Given the description of an element on the screen output the (x, y) to click on. 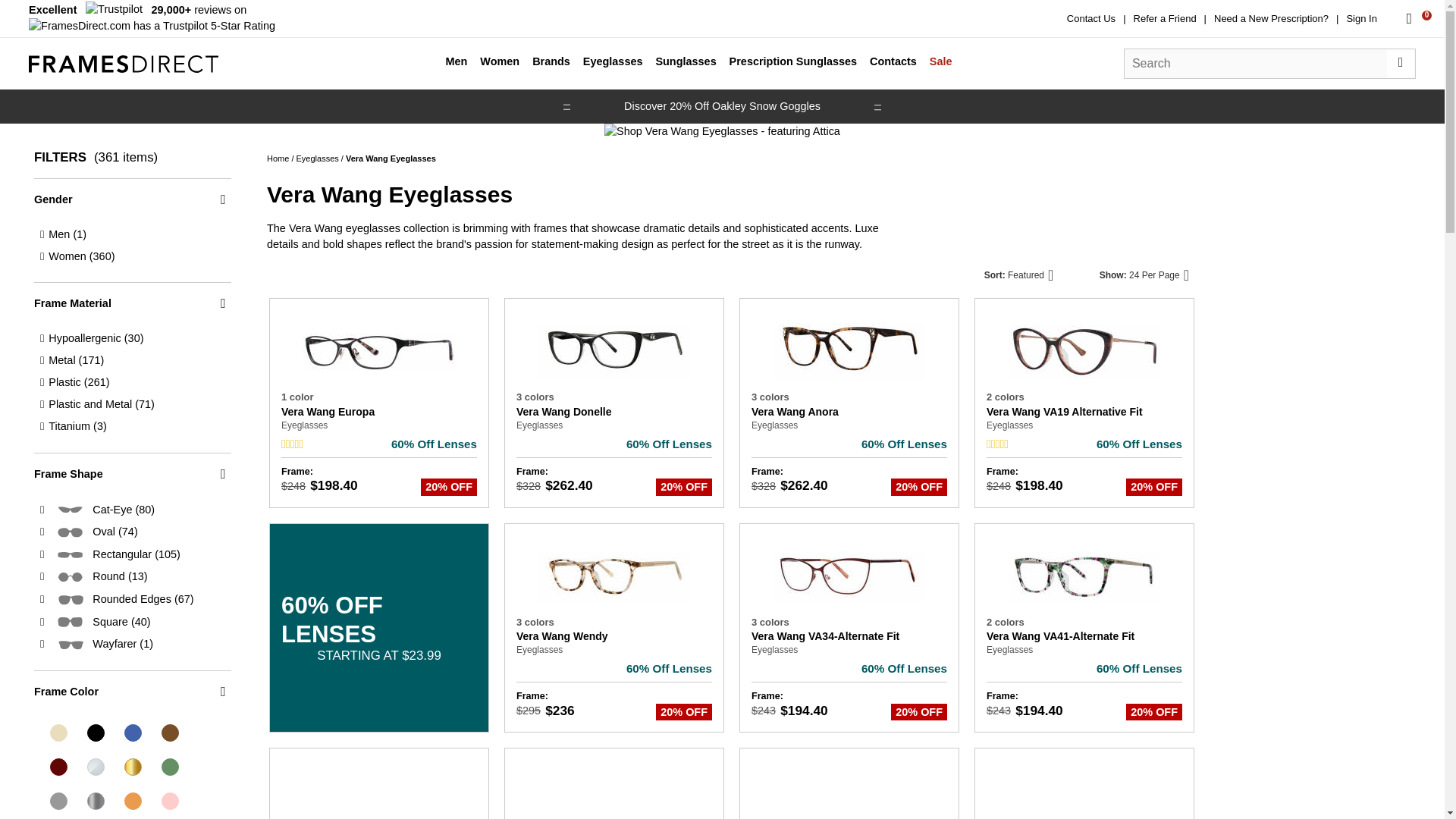
Refer a Friend (1165, 18)
Find an eyecare professional to get a new prescription (1270, 18)
Need a New Prescription? (1270, 18)
Sign In (1360, 18)
Contact Us (1091, 18)
